Given the description of an element on the screen output the (x, y) to click on. 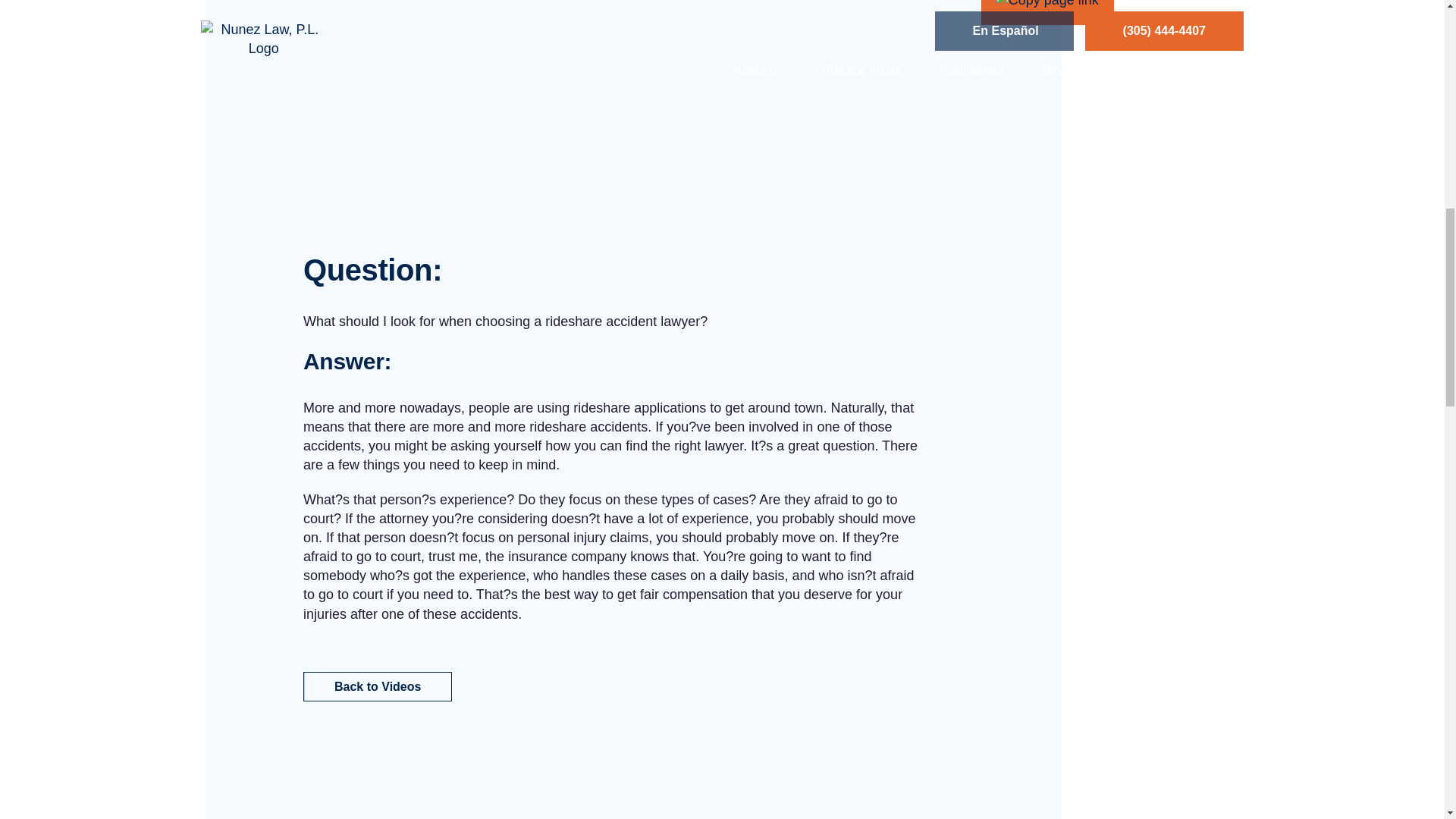
Copy this page link (1047, 3)
Back to video page (376, 686)
